Given the description of an element on the screen output the (x, y) to click on. 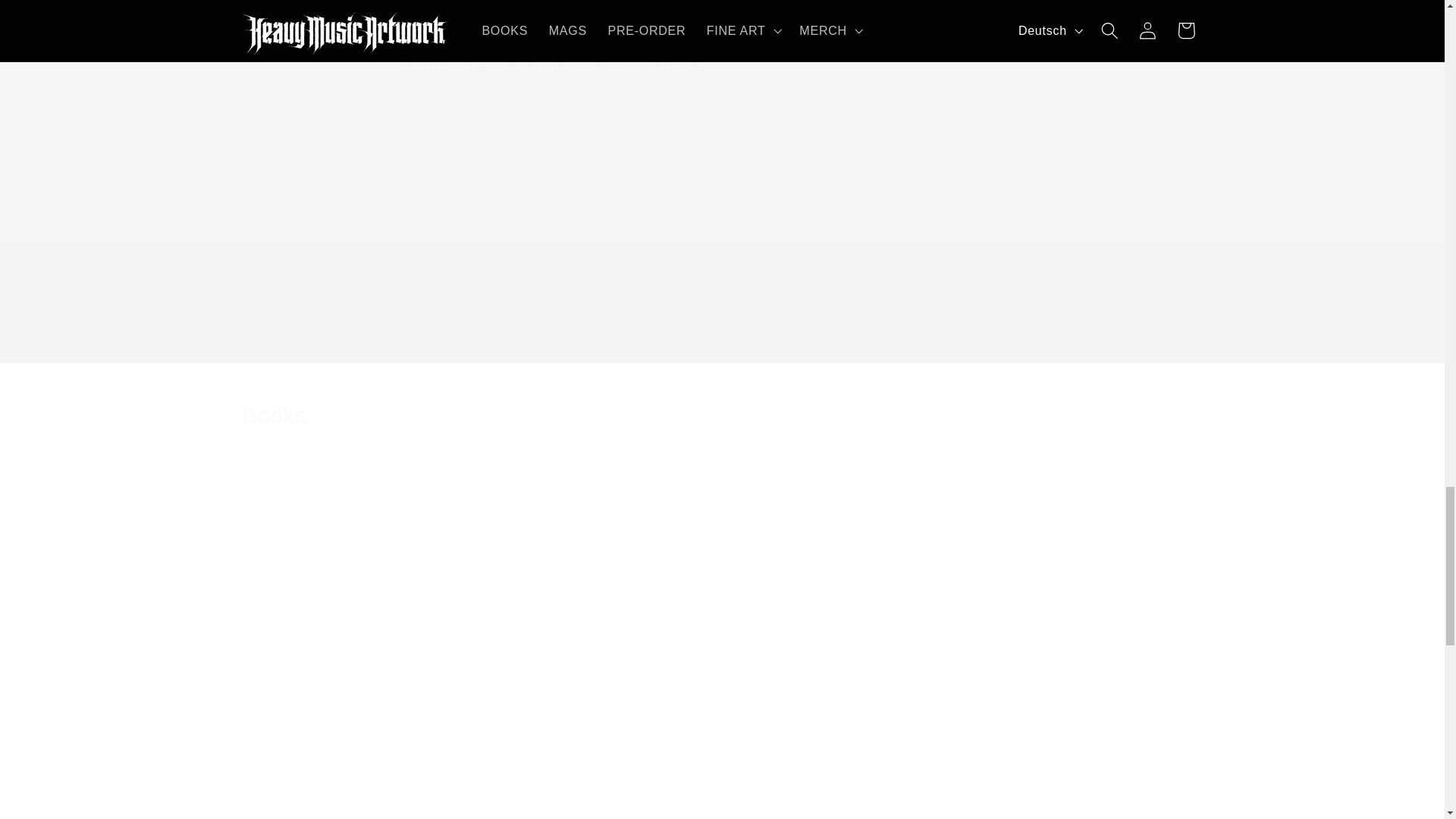
Books (722, 415)
Kommentar posten (494, 328)
